Given the description of an element on the screen output the (x, y) to click on. 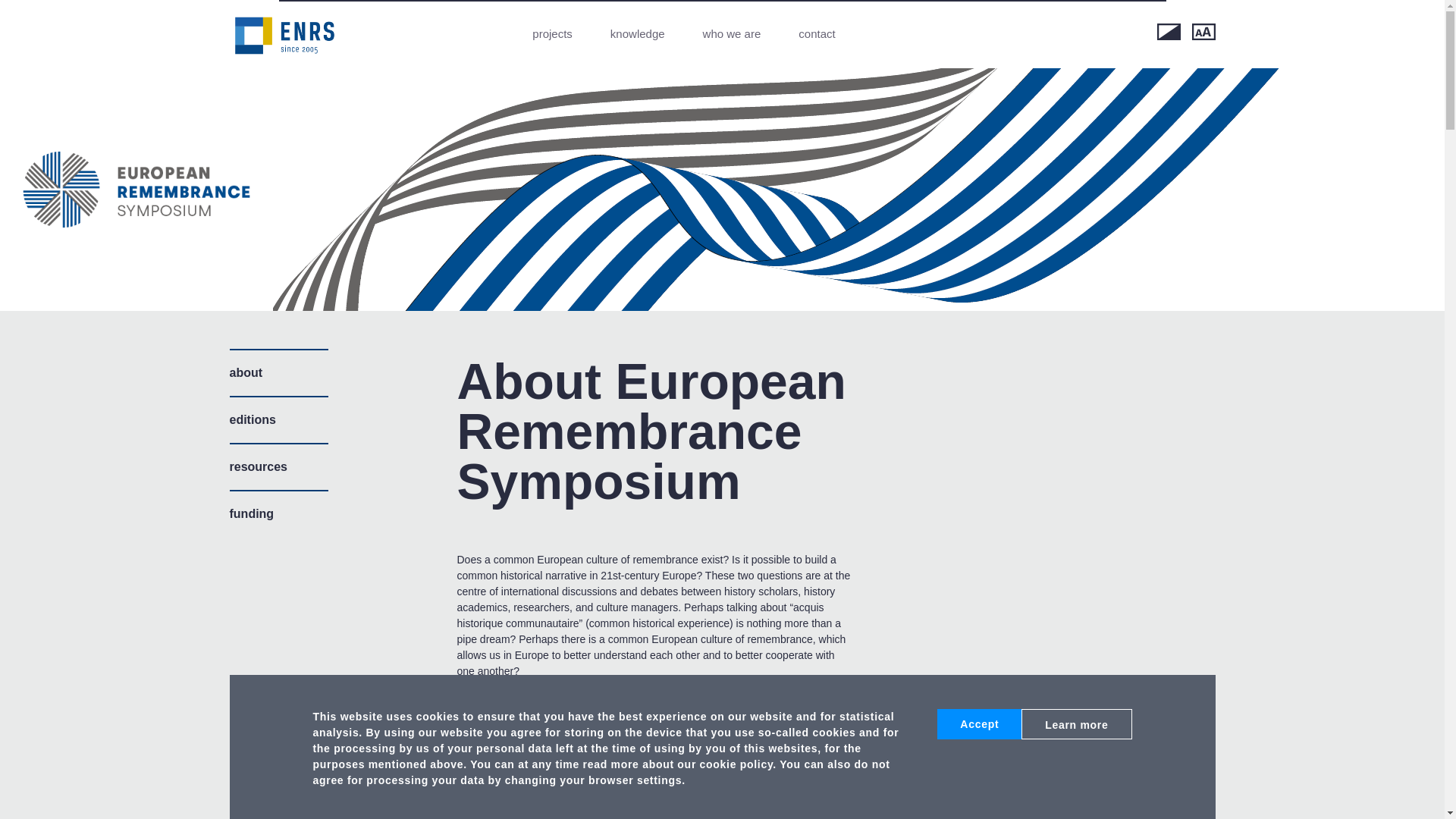
contact (815, 33)
editions (277, 419)
projects (552, 33)
resources (277, 466)
about (277, 371)
European Network Remembrance and Solidarity (283, 35)
Change font size (1203, 31)
funding (277, 513)
Contrast (1168, 31)
